Given the description of an element on the screen output the (x, y) to click on. 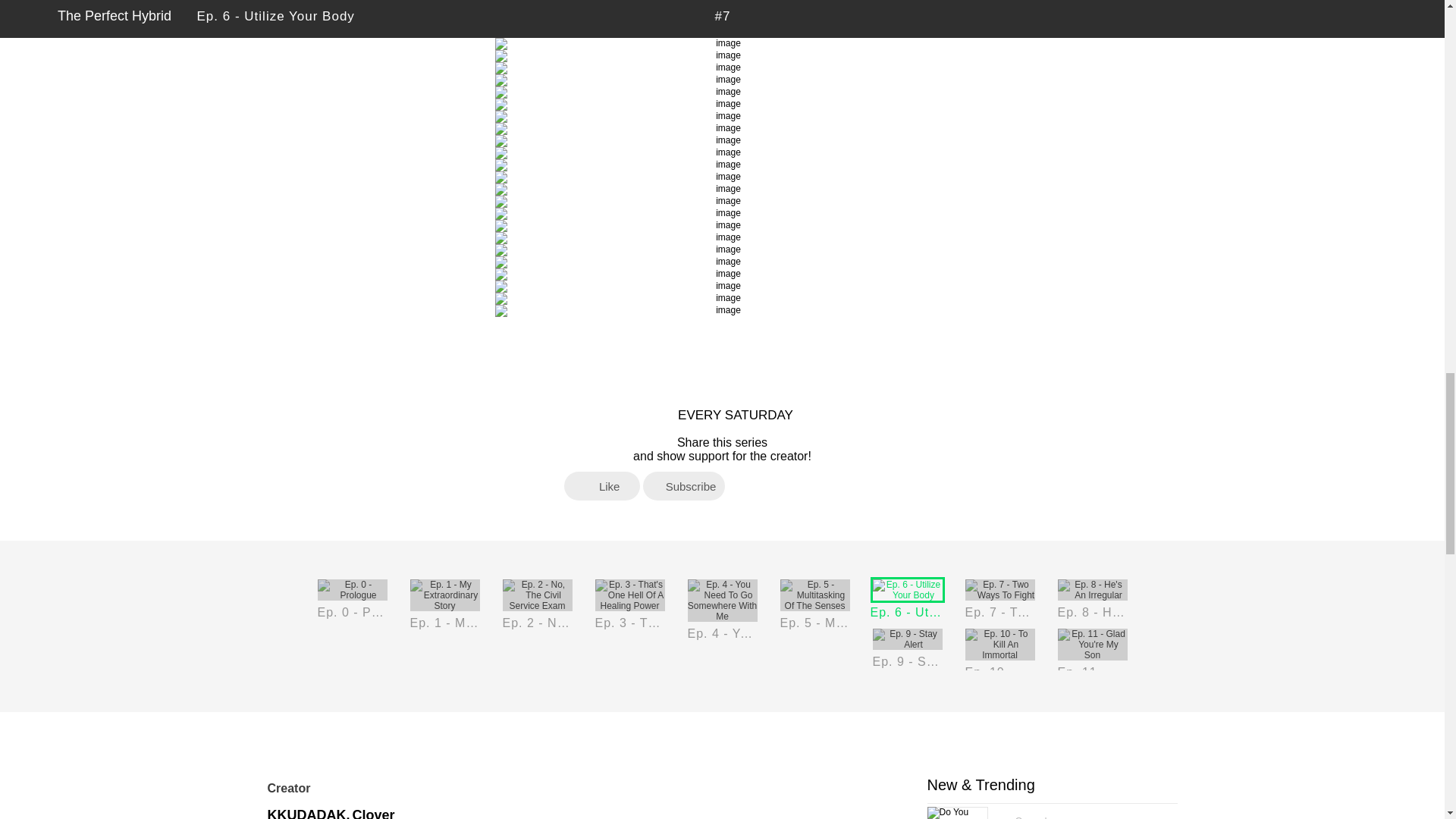
Reddit (834, 485)
Tumblr (804, 485)
Facebook (741, 485)
Twitter (772, 485)
Like (602, 485)
URL COPY (865, 485)
